Given the description of an element on the screen output the (x, y) to click on. 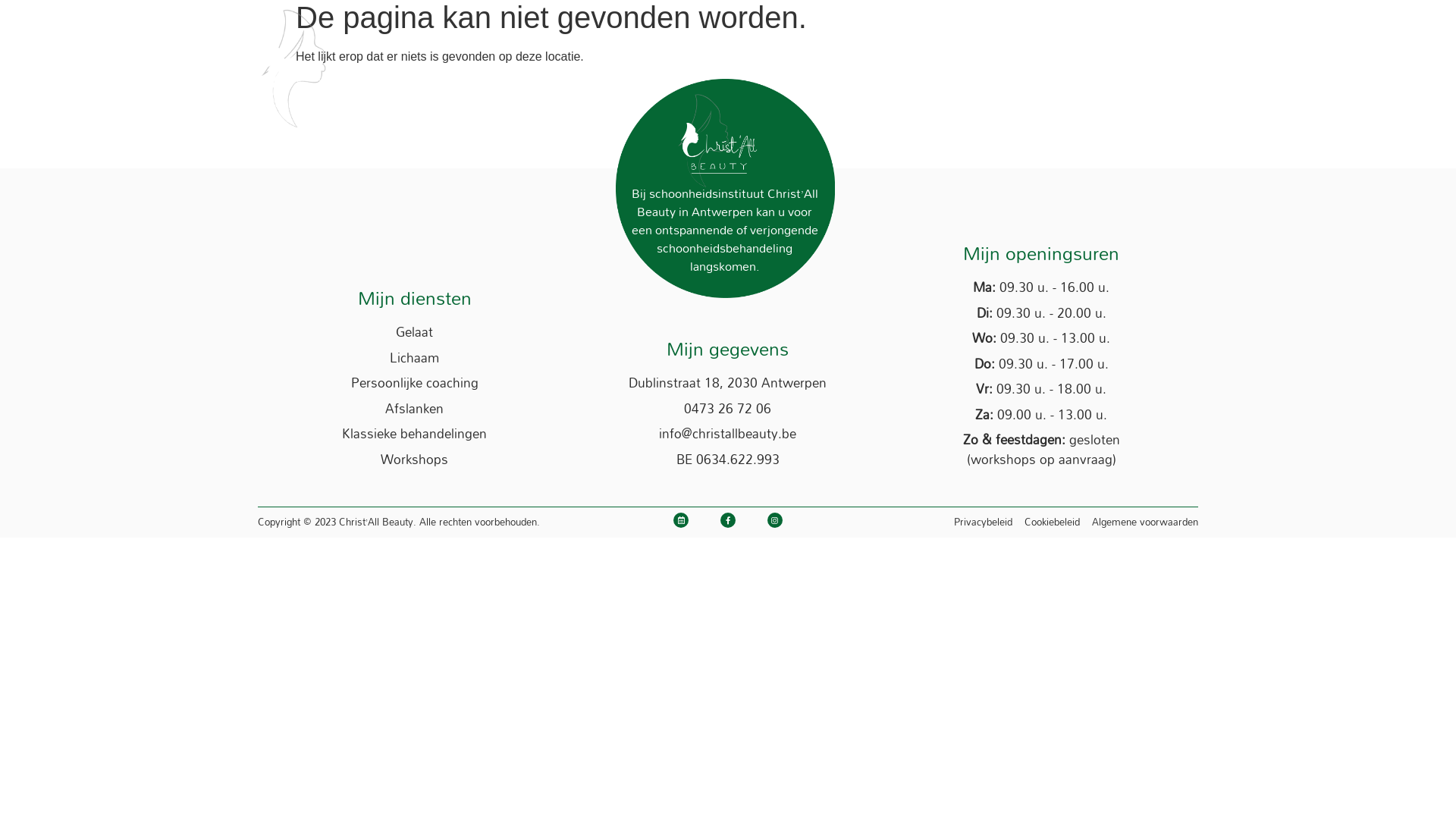
Prijslijst Element type: text (956, 59)
Contact Element type: text (1160, 59)
Klassieke behandelingen Element type: text (414, 433)
Workshops Element type: text (414, 459)
0473 26 72 06 Element type: text (727, 408)
Privacybeleid Element type: text (982, 522)
Persoonlijke coaching Element type: text (414, 382)
Afspraak maken Element type: text (1057, 59)
info@christallbeauty.be Element type: text (727, 433)
Home Element type: text (786, 59)
Dublinstraat 18, 2030 Antwerpen Element type: text (727, 382)
Gelaat Element type: text (414, 332)
Lichaam Element type: text (414, 357)
Cookiebeleid Element type: text (1051, 522)
Algemene voorwaarden Element type: text (1145, 522)
Afslanken Element type: text (414, 408)
